Given the description of an element on the screen output the (x, y) to click on. 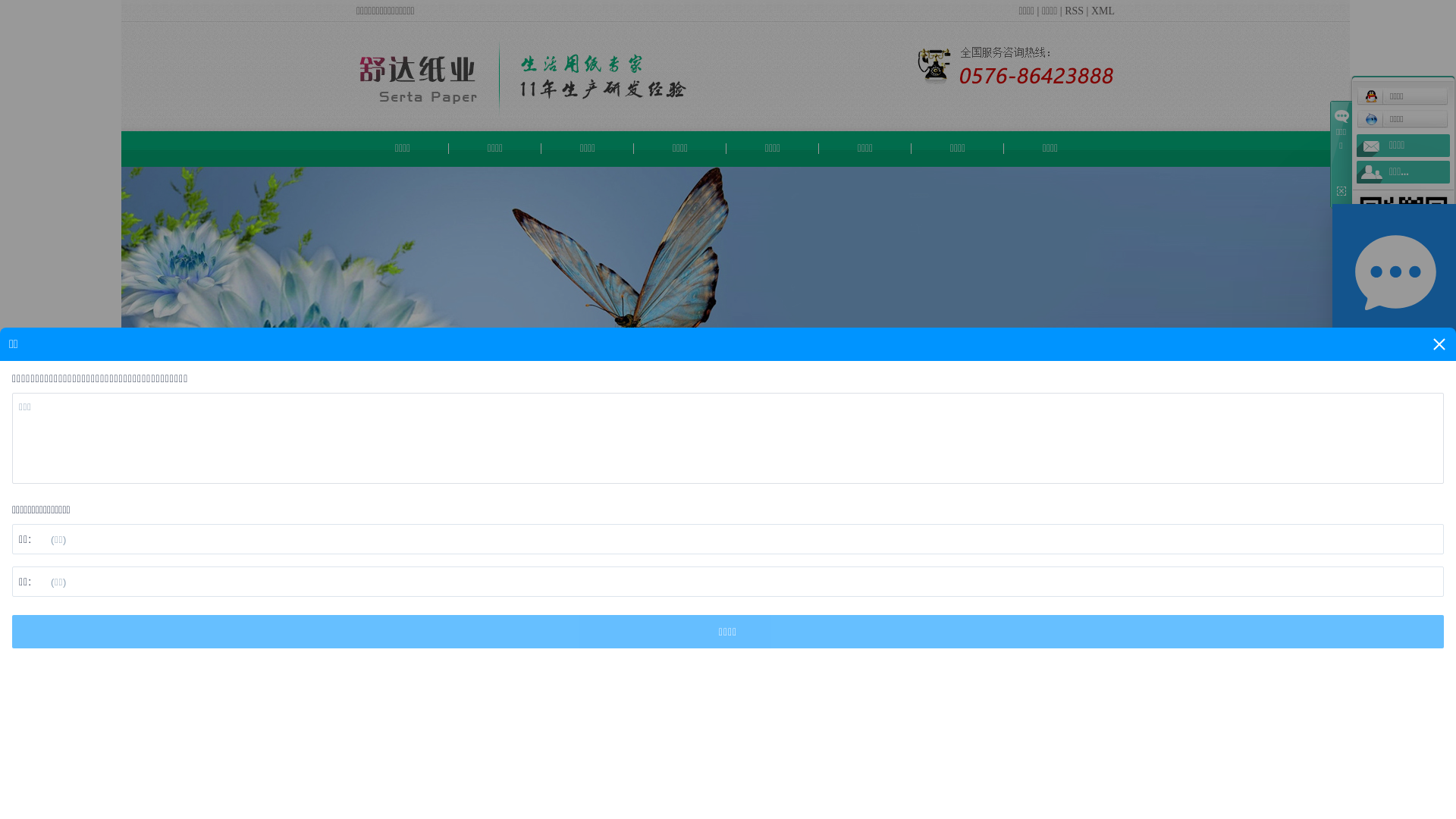
RSS Element type: text (1073, 10)
XML Element type: text (1102, 10)
1481003251573011.png Element type: hover (1012, 64)
